Given the description of an element on the screen output the (x, y) to click on. 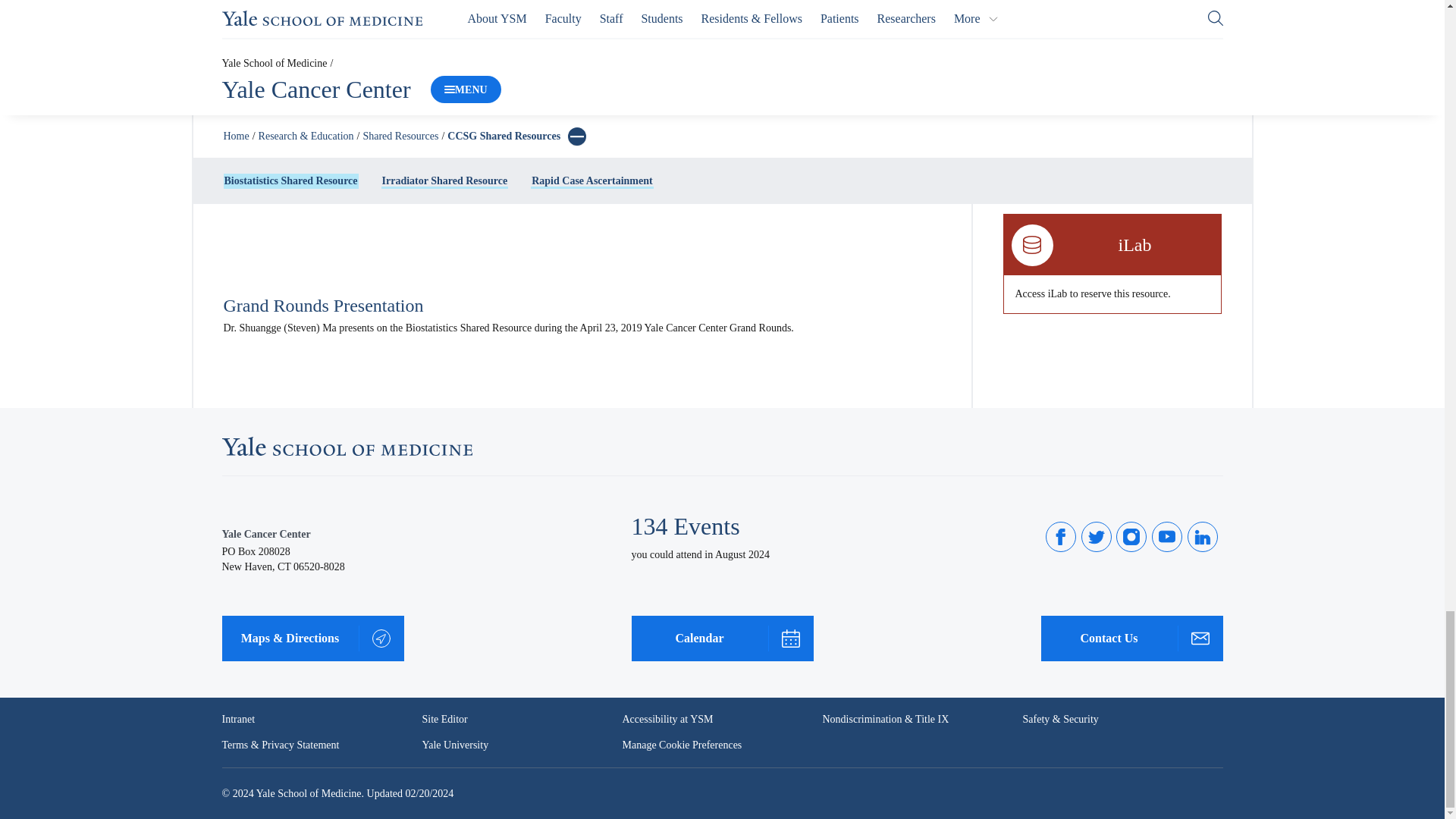
Yale School of Medicine (346, 445)
